Given the description of an element on the screen output the (x, y) to click on. 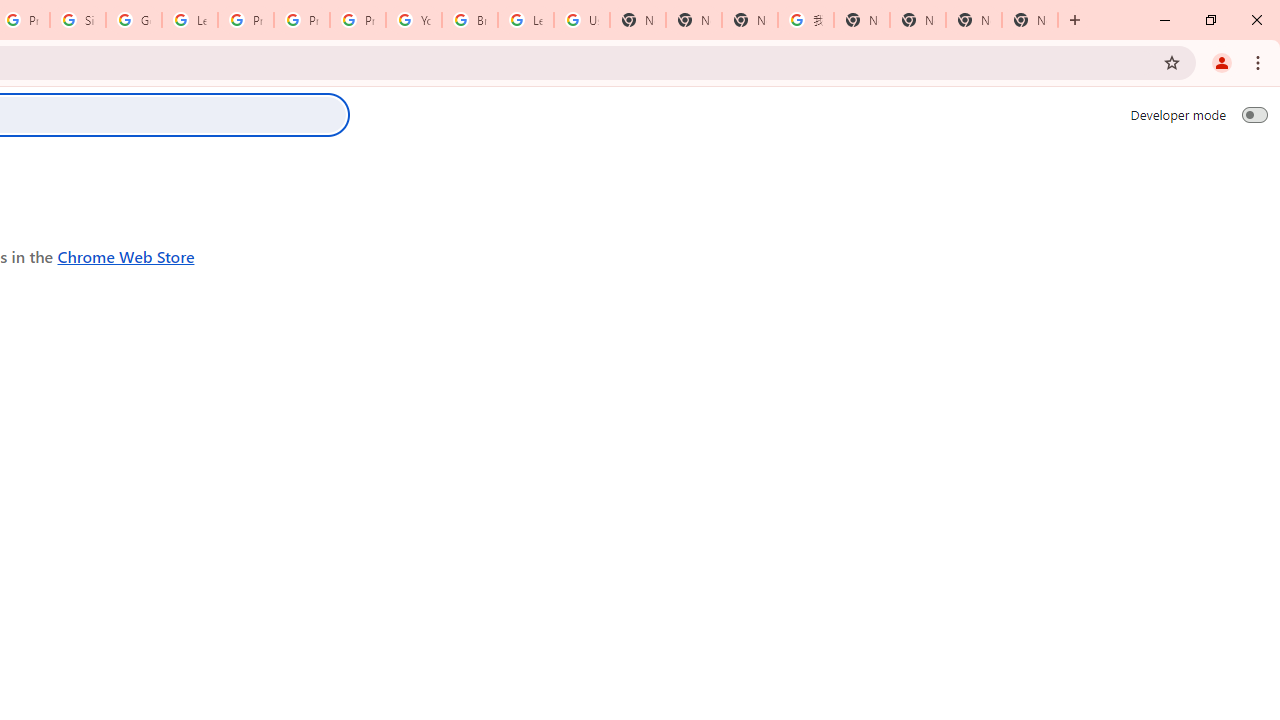
Privacy Help Center - Policies Help (301, 20)
Browse Chrome as a guest - Computer - Google Chrome Help (469, 20)
New Tab (1030, 20)
Developer mode (1254, 114)
Chrome Web Store (125, 256)
YouTube (413, 20)
Sign in - Google Accounts (77, 20)
